Given the description of an element on the screen output the (x, y) to click on. 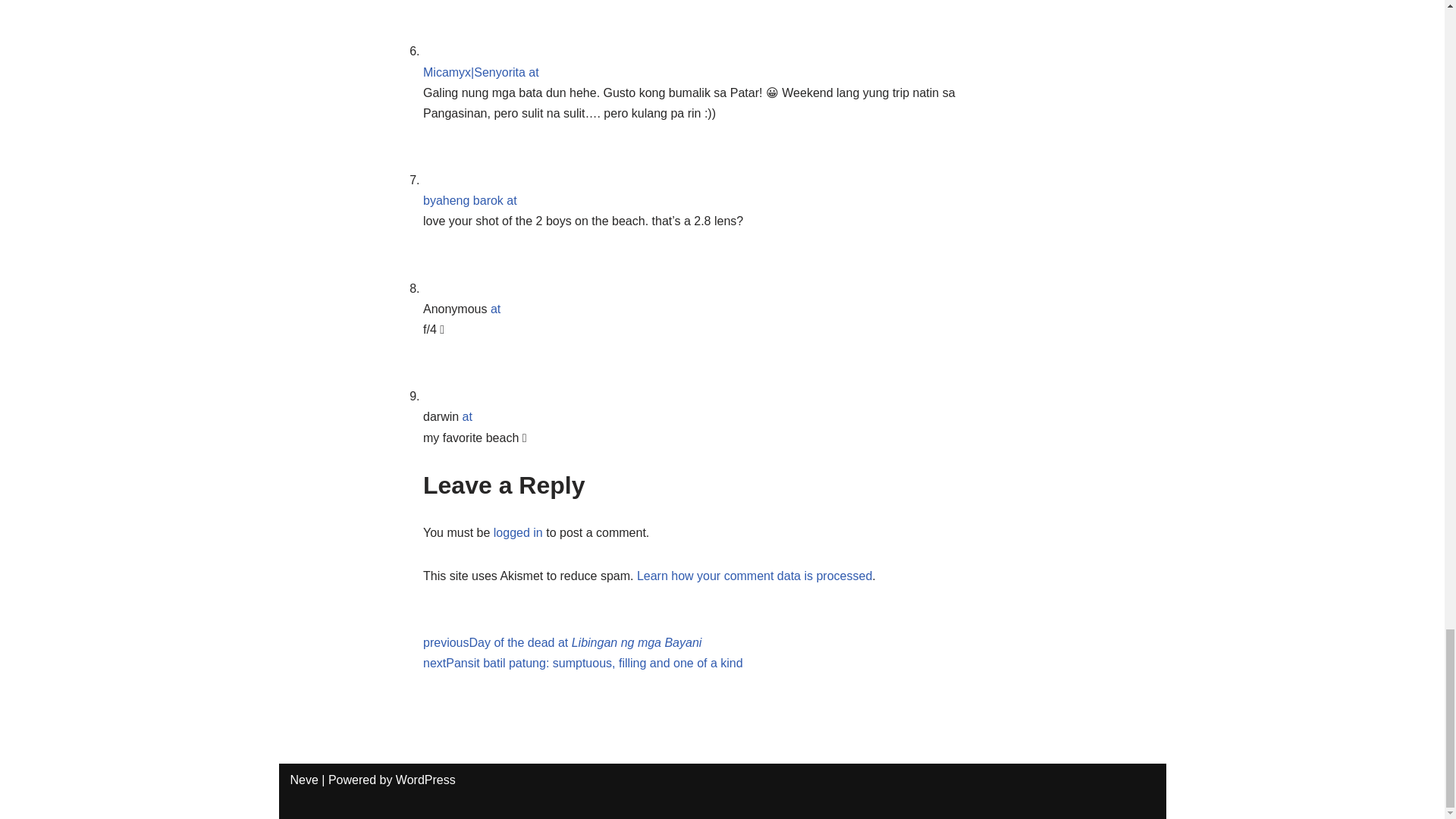
byaheng barok (463, 200)
logged in (518, 532)
